Given the description of an element on the screen output the (x, y) to click on. 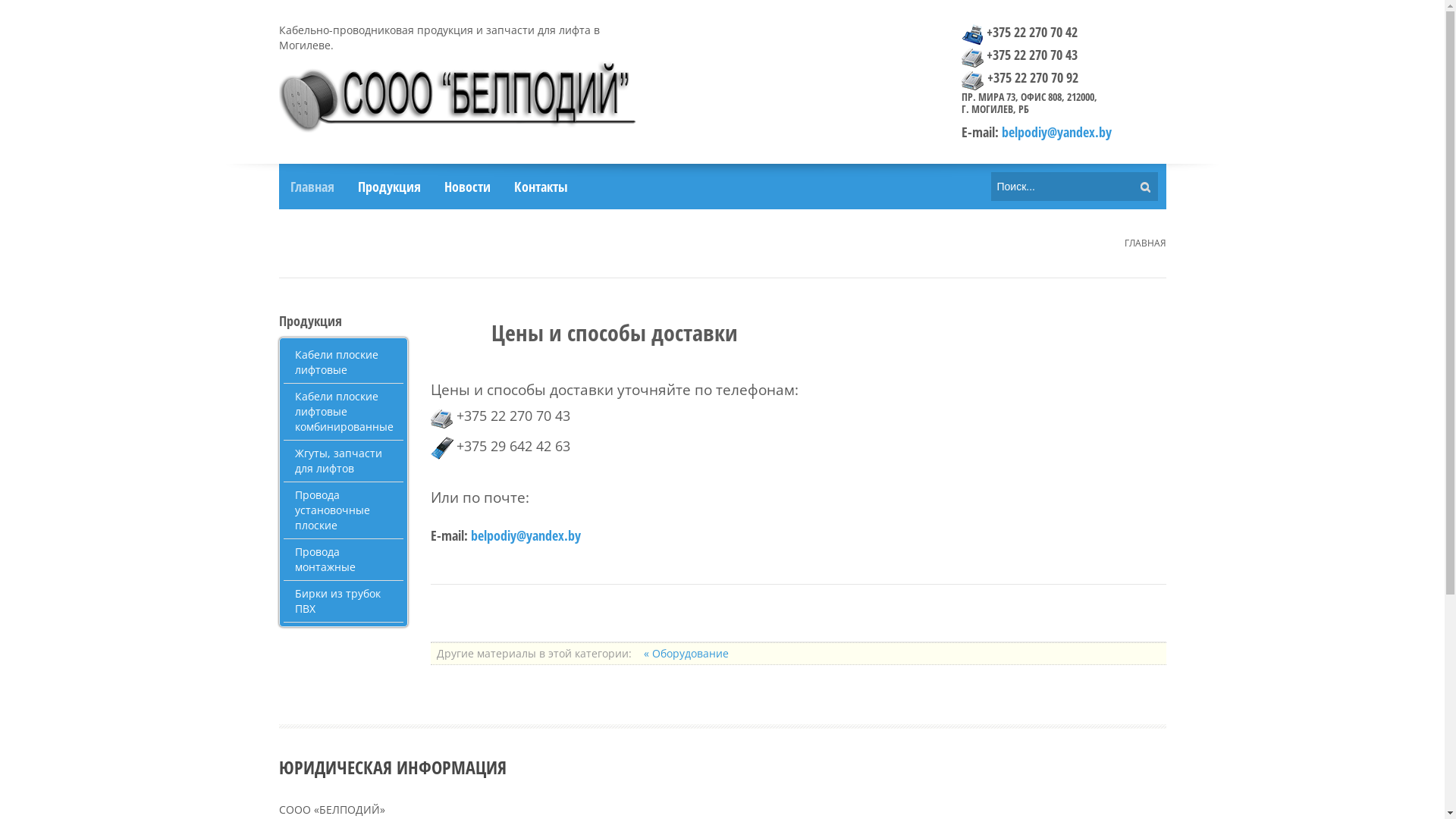
Velcom Element type: hover (441, 447)
belpodiy@yandex.by Element type: text (525, 535)
belpodiy@yandex.by Element type: text (1055, 131)
